Given the description of an element on the screen output the (x, y) to click on. 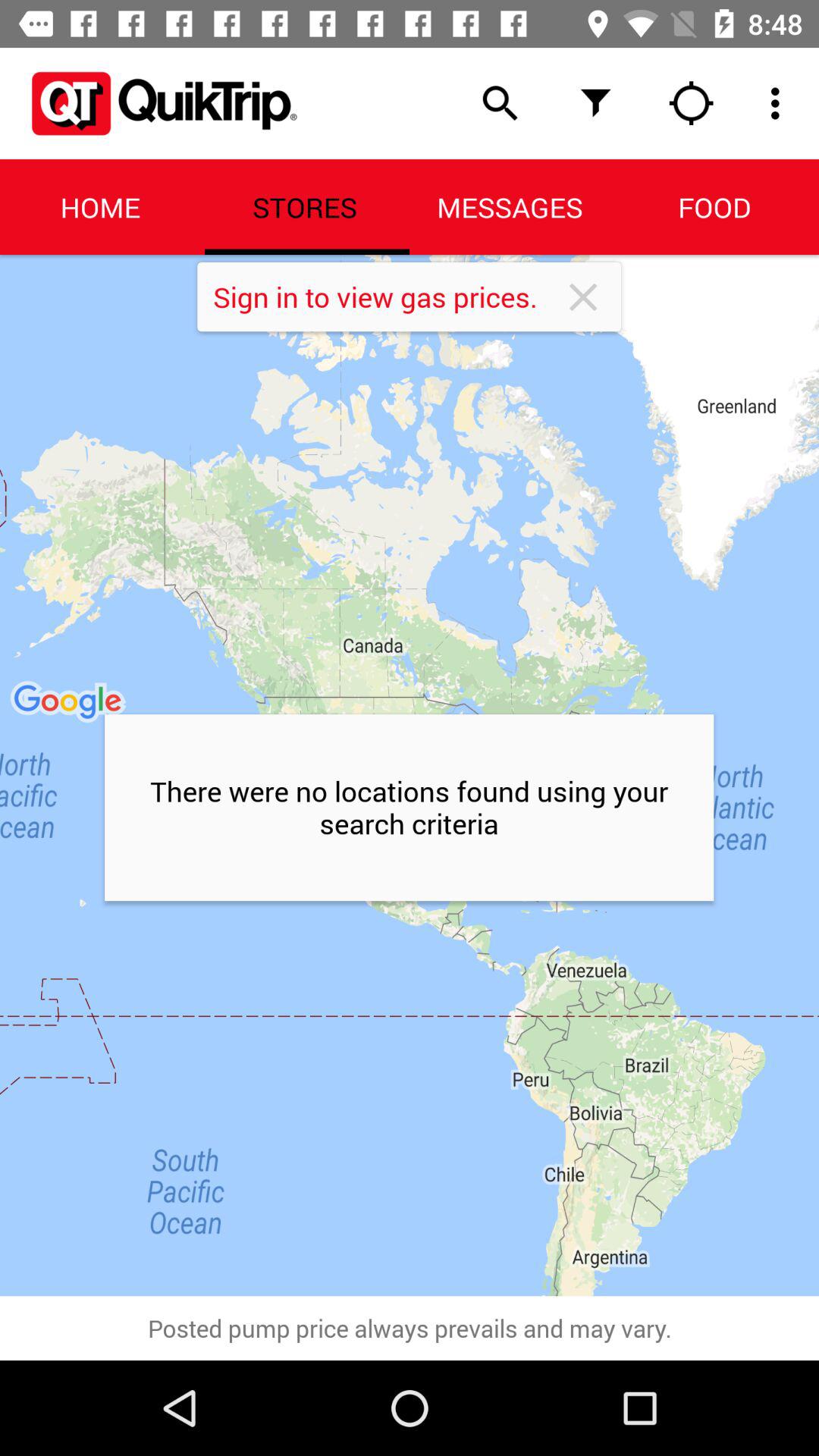
turn on the icon above posted pump price (409, 775)
